Given the description of an element on the screen output the (x, y) to click on. 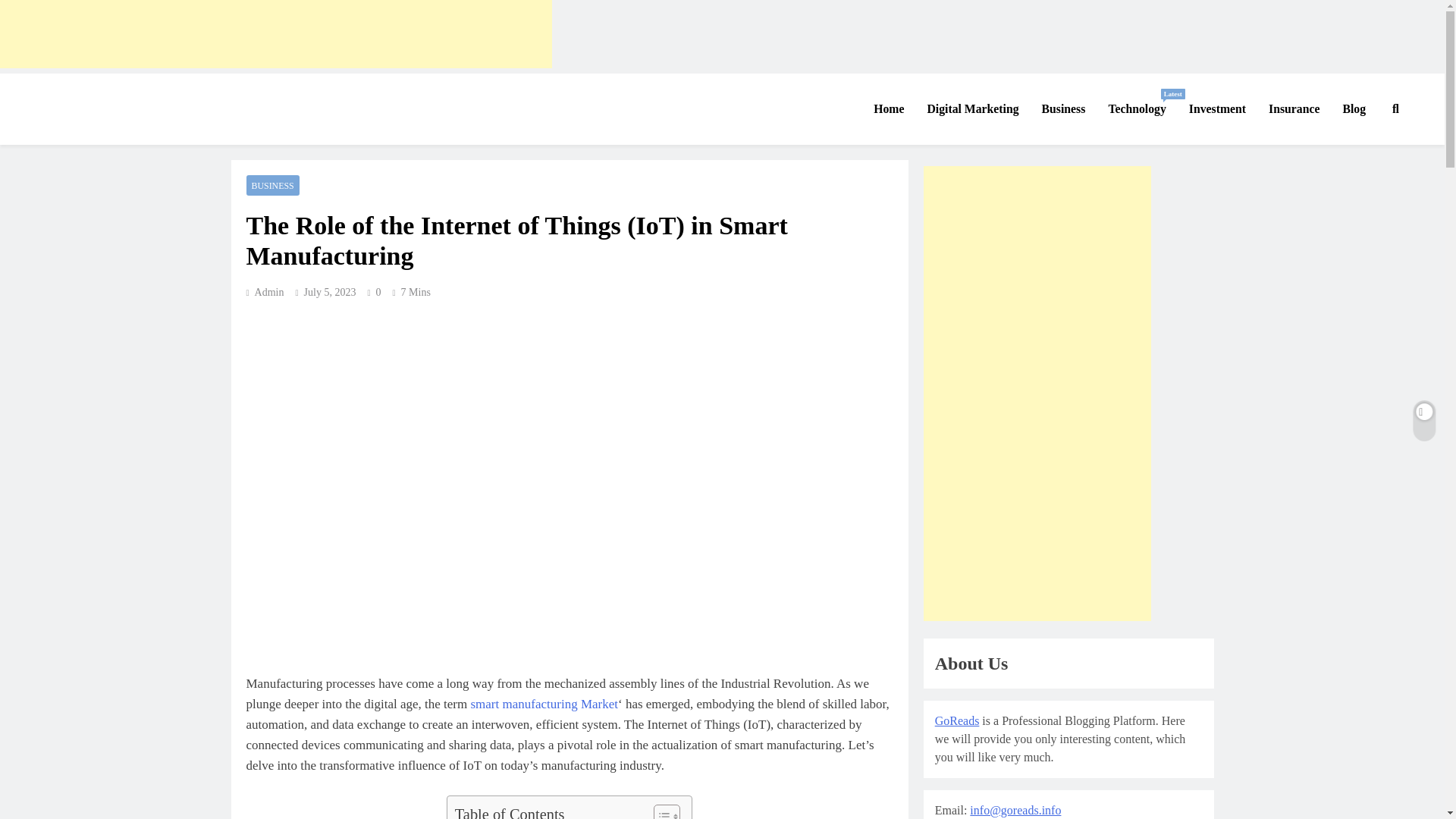
Digital Marketing (972, 108)
July 5, 2023 (330, 292)
Advertisement (1136, 108)
Insurance (275, 33)
Blog (1293, 108)
GoReads (1353, 108)
smart manufacturing Market (88, 134)
BUSINESS (543, 703)
Home (272, 185)
